Given the description of an element on the screen output the (x, y) to click on. 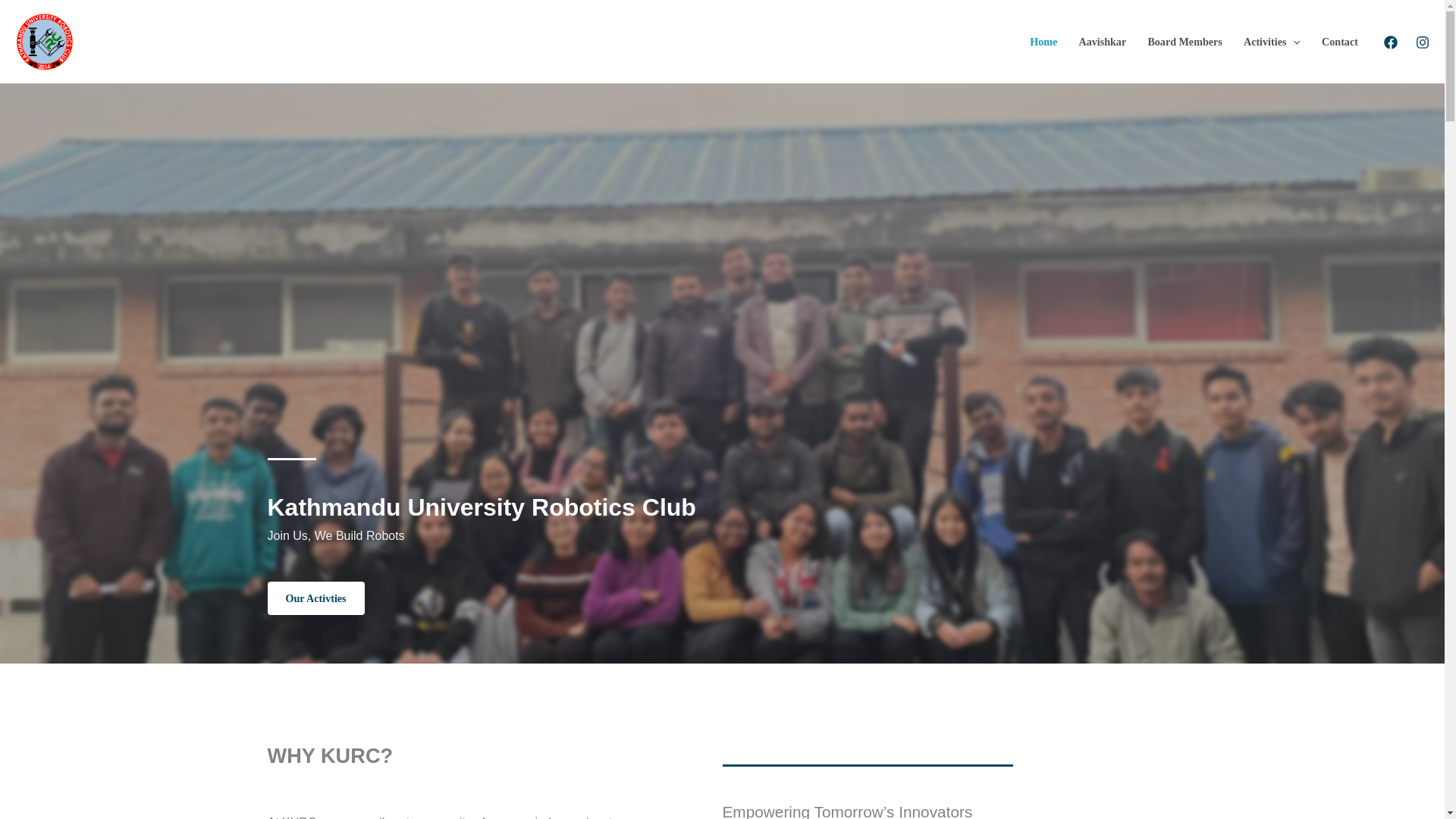
Activities (1272, 40)
Board Members (1185, 40)
Aavishkar (1102, 40)
Our Activties (315, 598)
